Given the description of an element on the screen output the (x, y) to click on. 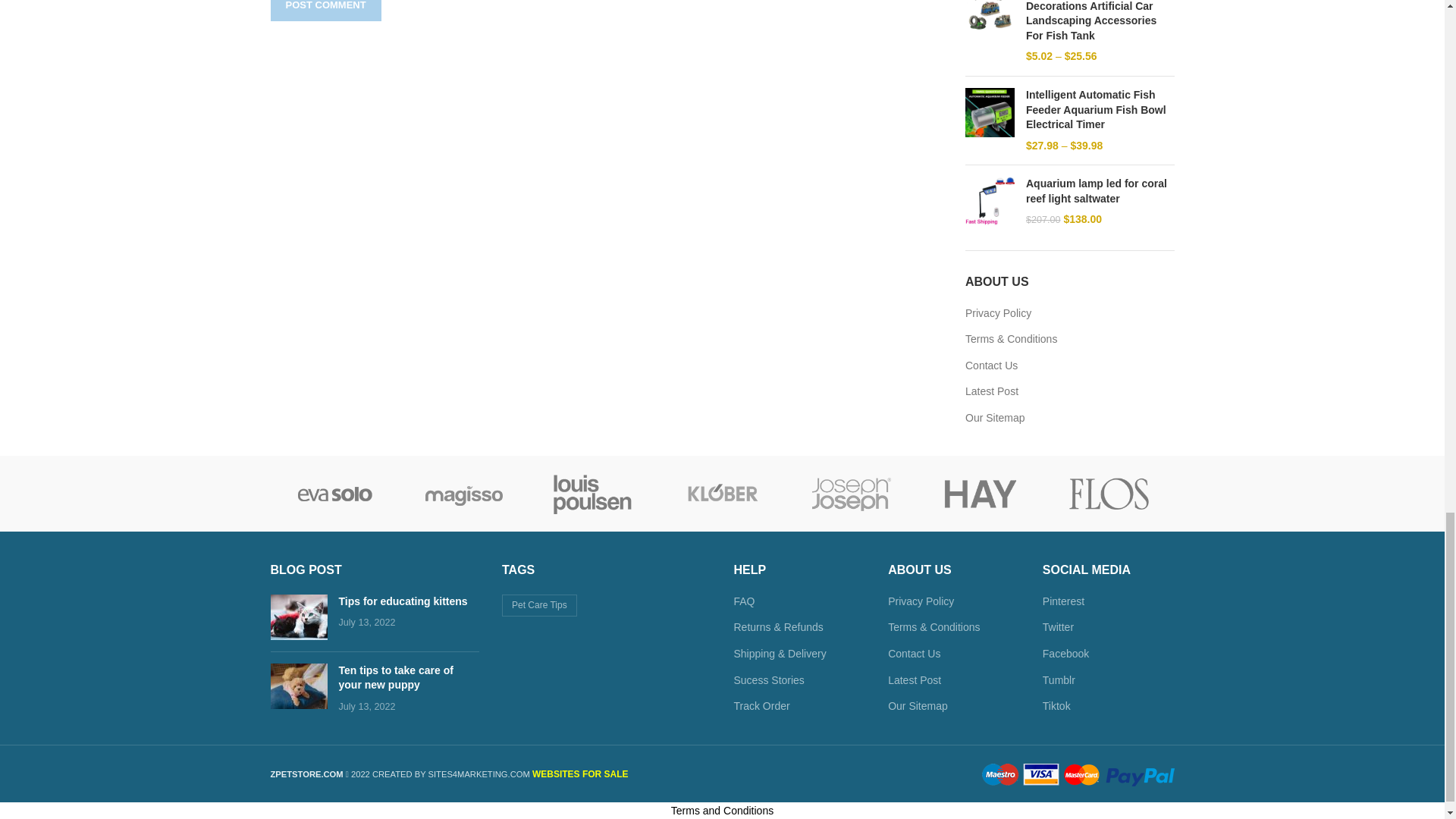
Post Comment (324, 10)
